Given the description of an element on the screen output the (x, y) to click on. 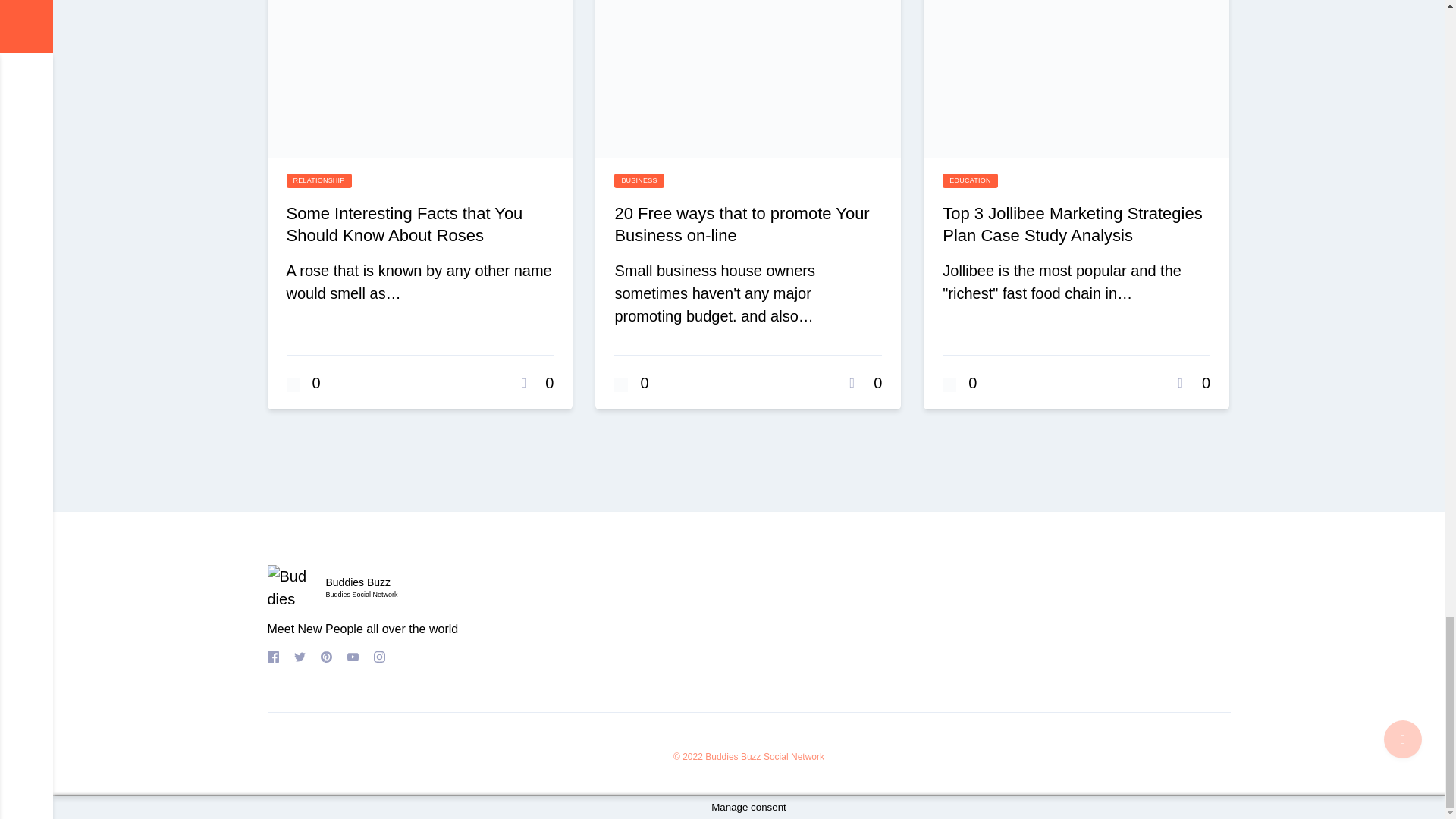
All posts from Education (969, 181)
All posts from Business (638, 181)
All posts from Relationship (319, 181)
